Given the description of an element on the screen output the (x, y) to click on. 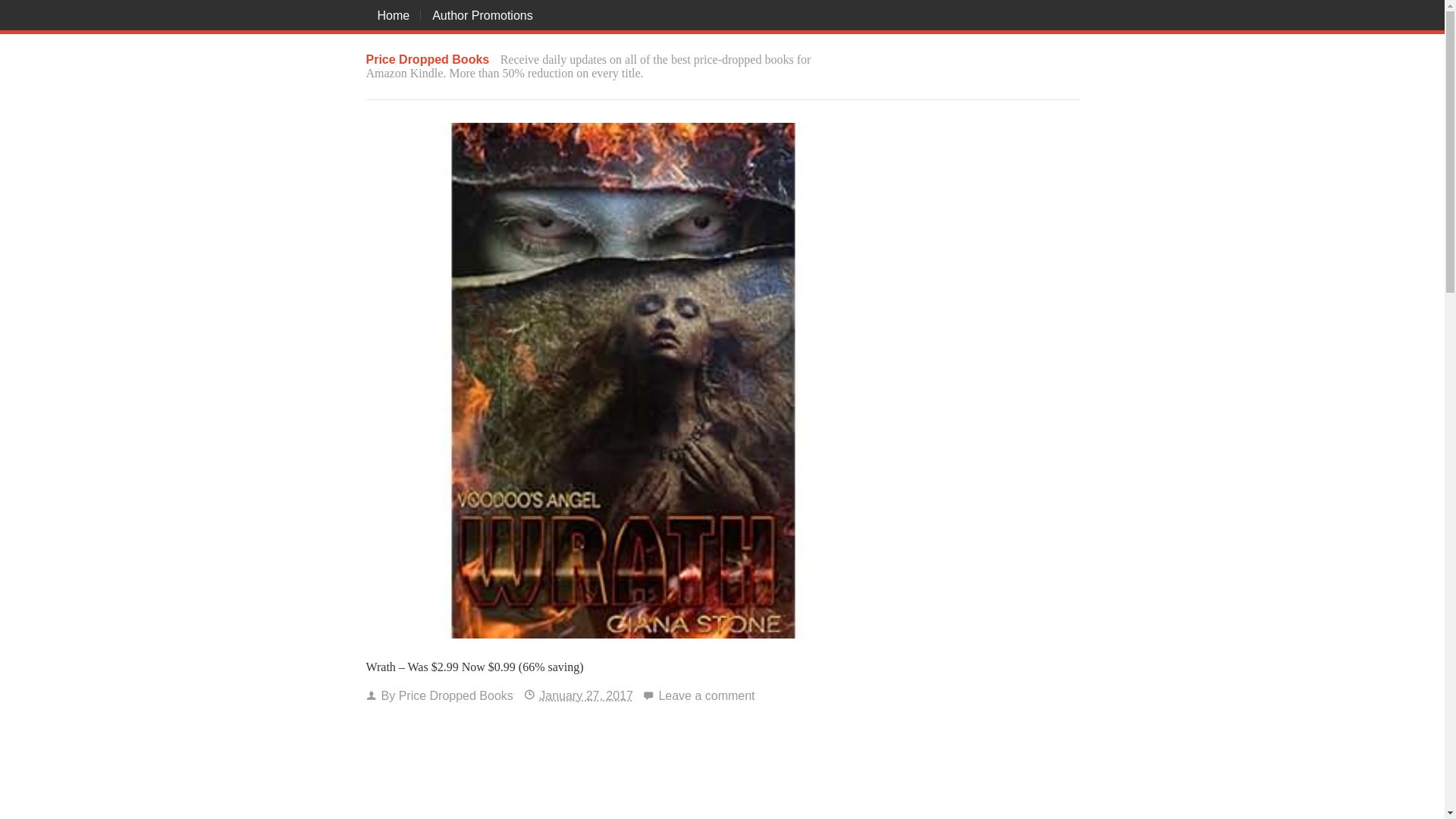
Price Dropped Books (427, 59)
Leave a comment (706, 695)
View all articles by Price Dropped Books (455, 695)
Price Dropped Books (427, 59)
Home (392, 15)
Author Promotions (482, 15)
Price Dropped Books (455, 695)
